Given the description of an element on the screen output the (x, y) to click on. 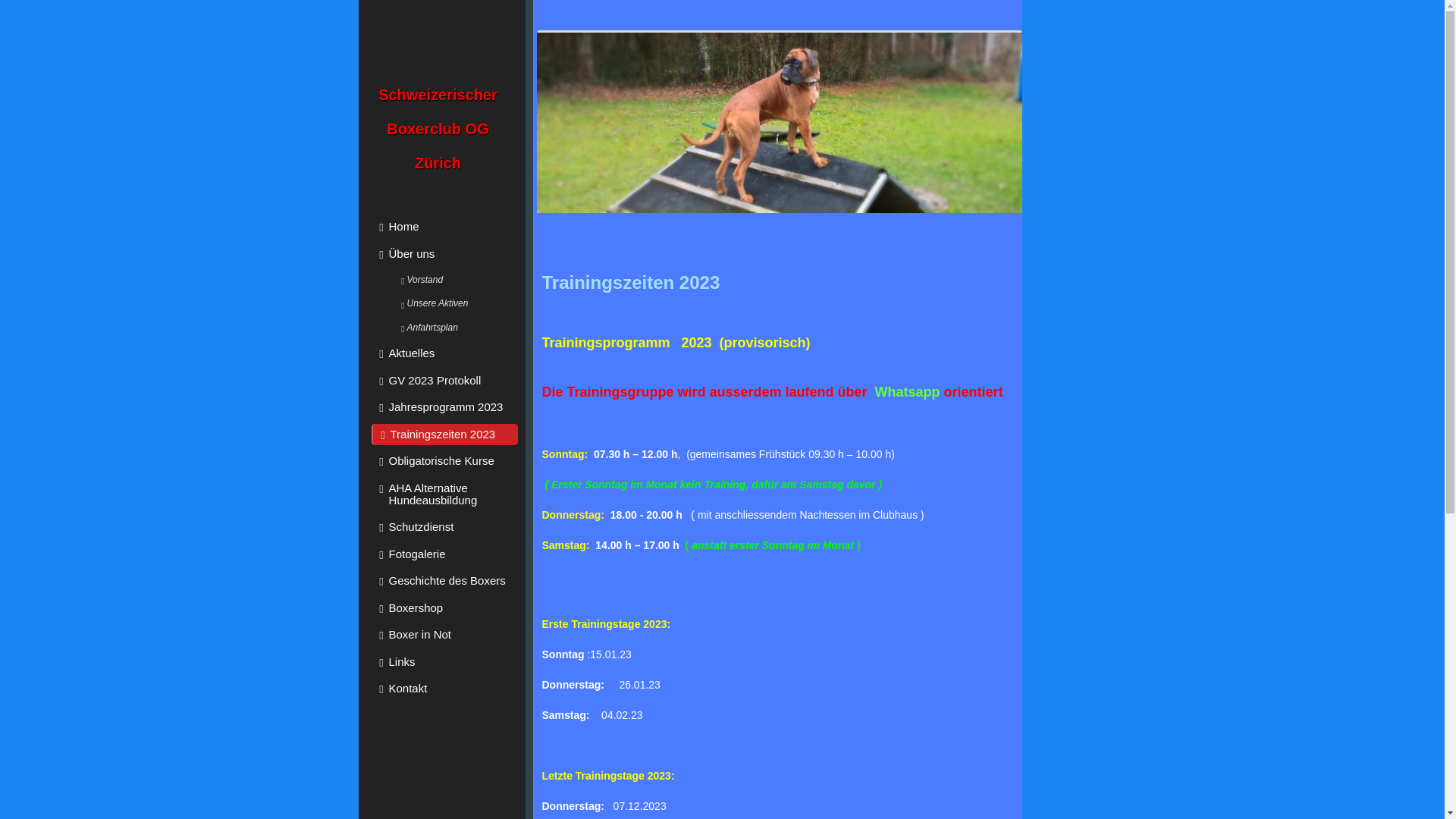
Vorstand Element type: text (454, 279)
Fotogalerie Element type: text (444, 553)
Schutzdienst Element type: text (444, 526)
Aktuelles Element type: text (444, 353)
Trainingszeiten 2023 Element type: text (444, 434)
Links Element type: text (444, 661)
Unsere Aktiven Element type: text (454, 303)
Kontakt Element type: text (444, 688)
Jahresprogramm 2023 Element type: text (444, 406)
Boxer in Not Element type: text (444, 634)
Boxershop Element type: text (444, 607)
Anfahrtsplan Element type: text (454, 327)
GV 2023 Protokoll Element type: text (444, 380)
AHA Alternative Hundeausbildung Element type: text (444, 494)
Geschichte des Boxers Element type: text (444, 580)
Home Element type: text (444, 226)
Obligatorische Kurse Element type: text (444, 460)
